Given the description of an element on the screen output the (x, y) to click on. 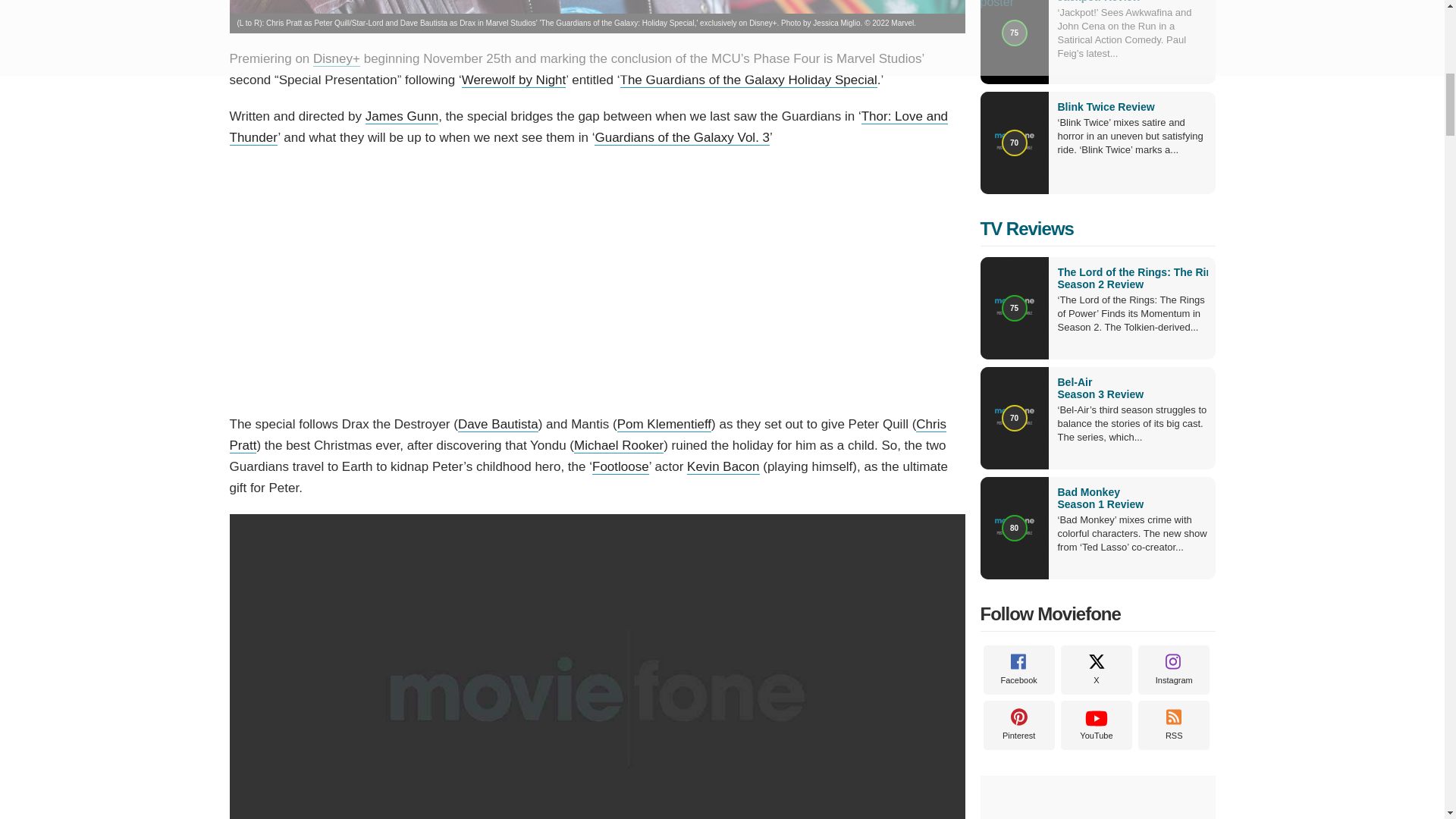
Bad Monkey movie (1132, 498)
Follow Moviefone on Instagram (1173, 669)
Follow Moviefone on Facebook (1018, 669)
Bel-Air movie (1132, 387)
Jackpot! movie (1098, 1)
Blink Twice movie (1105, 106)
Follow Moviefone on X (1096, 669)
The Lord of the Rings: The Rings of Power movie (1132, 278)
